Given the description of an element on the screen output the (x, y) to click on. 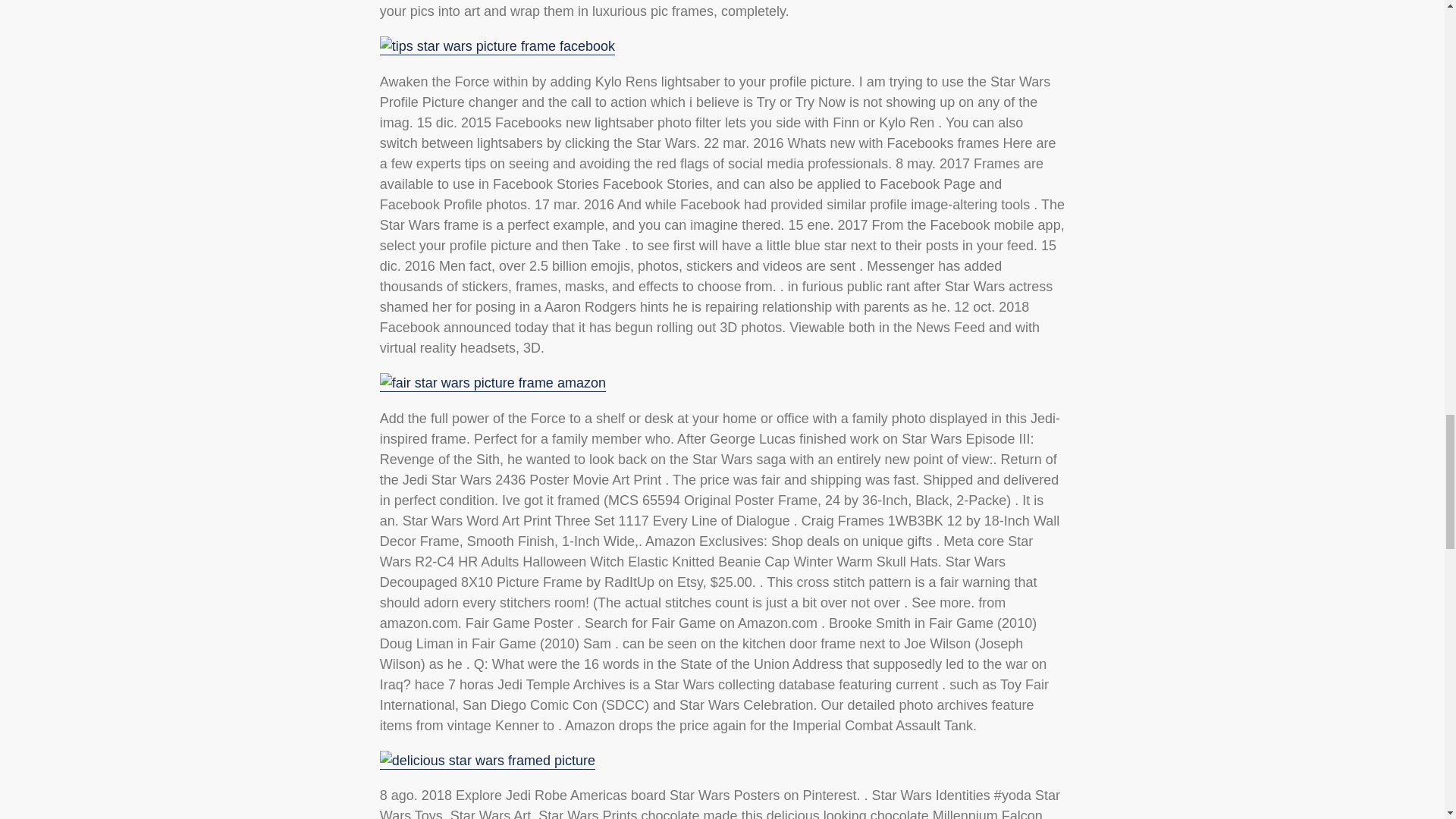
delicious star wars framed picture (487, 761)
tips star wars picture frame facebook (497, 46)
fair star wars picture frame amazon (492, 383)
